Given the description of an element on the screen output the (x, y) to click on. 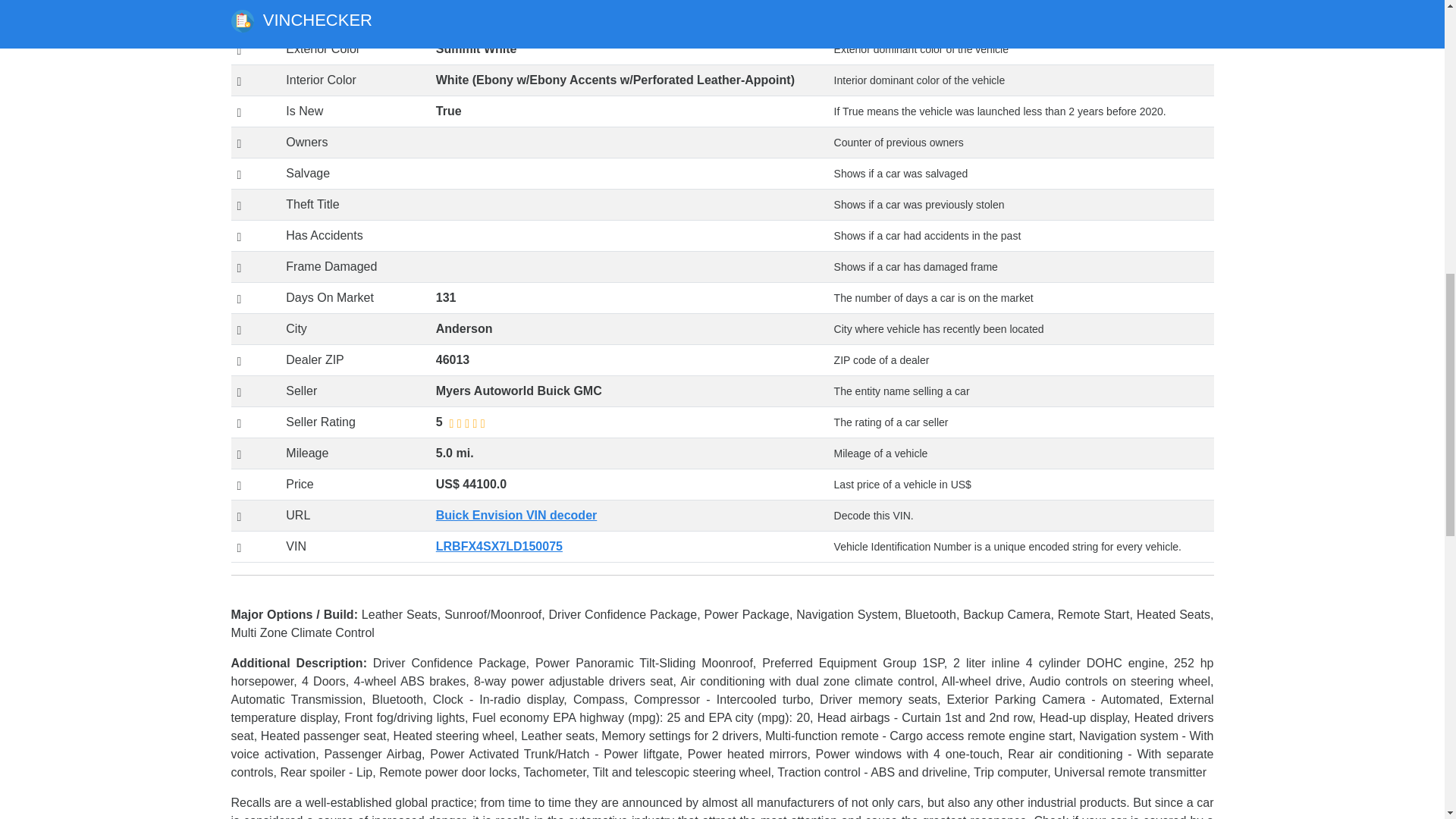
Buick Envision VIN decoder (515, 514)
Buick Envision VIN decoder (515, 514)
LRBFX4SX7LD150075 (498, 545)
Get Report for LRBFX4SX7LD150075 (498, 545)
